Given the description of an element on the screen output the (x, y) to click on. 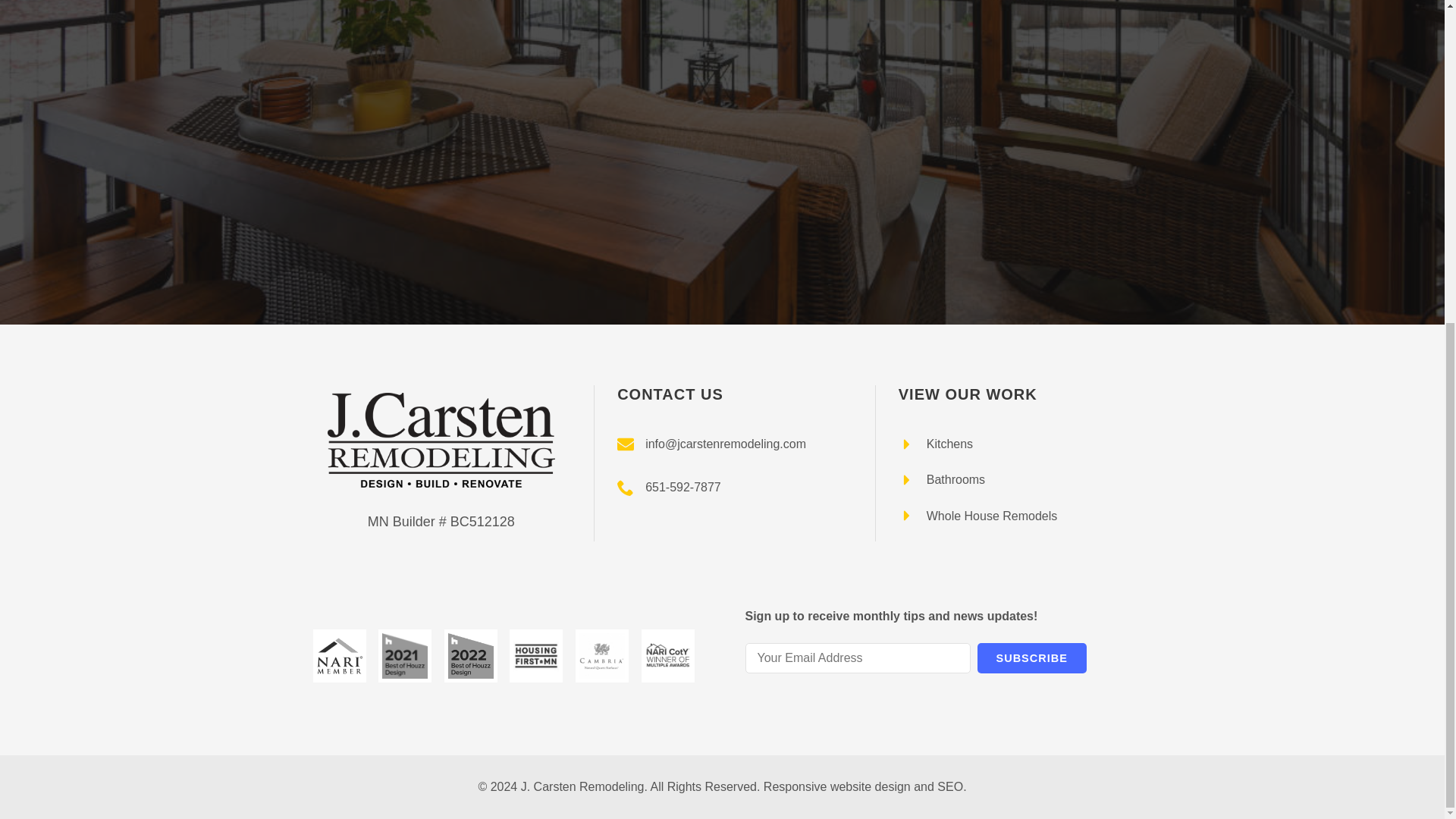
Whole House Remodels (978, 516)
651-592-7877 (668, 486)
Bathrooms (941, 479)
Subscribe (1031, 658)
Kitchens (935, 444)
